Given the description of an element on the screen output the (x, y) to click on. 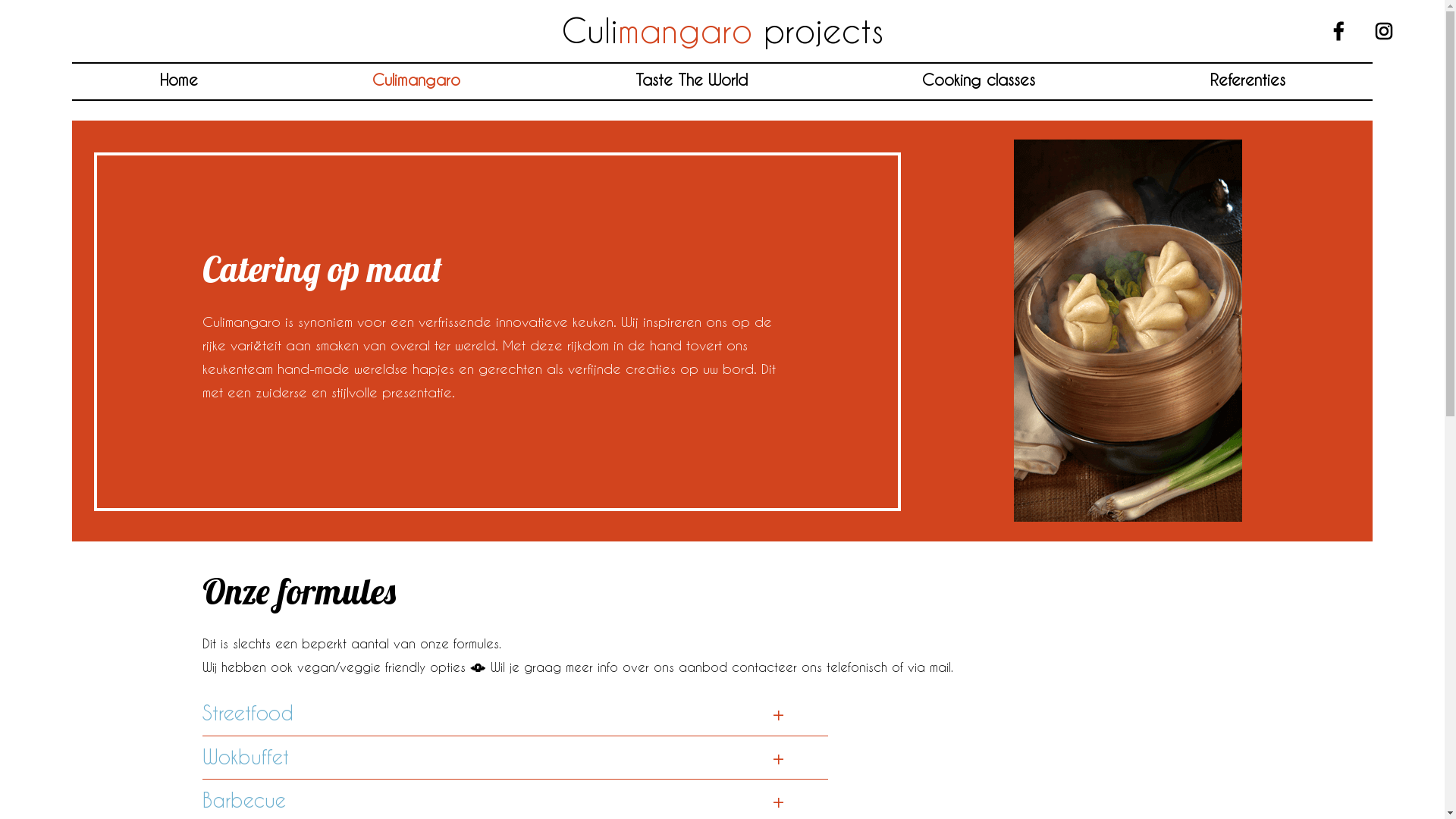
Taste The World Element type: text (691, 79)
+ Element type: text (777, 713)
Cooking classes Element type: text (978, 79)
catering Element type: hover (1127, 330)
Culimangaro Element type: text (416, 79)
+ Element type: text (777, 800)
Referenties Element type: text (1247, 79)
+ Element type: text (777, 757)
Home Element type: text (178, 79)
